Given the description of an element on the screen output the (x, y) to click on. 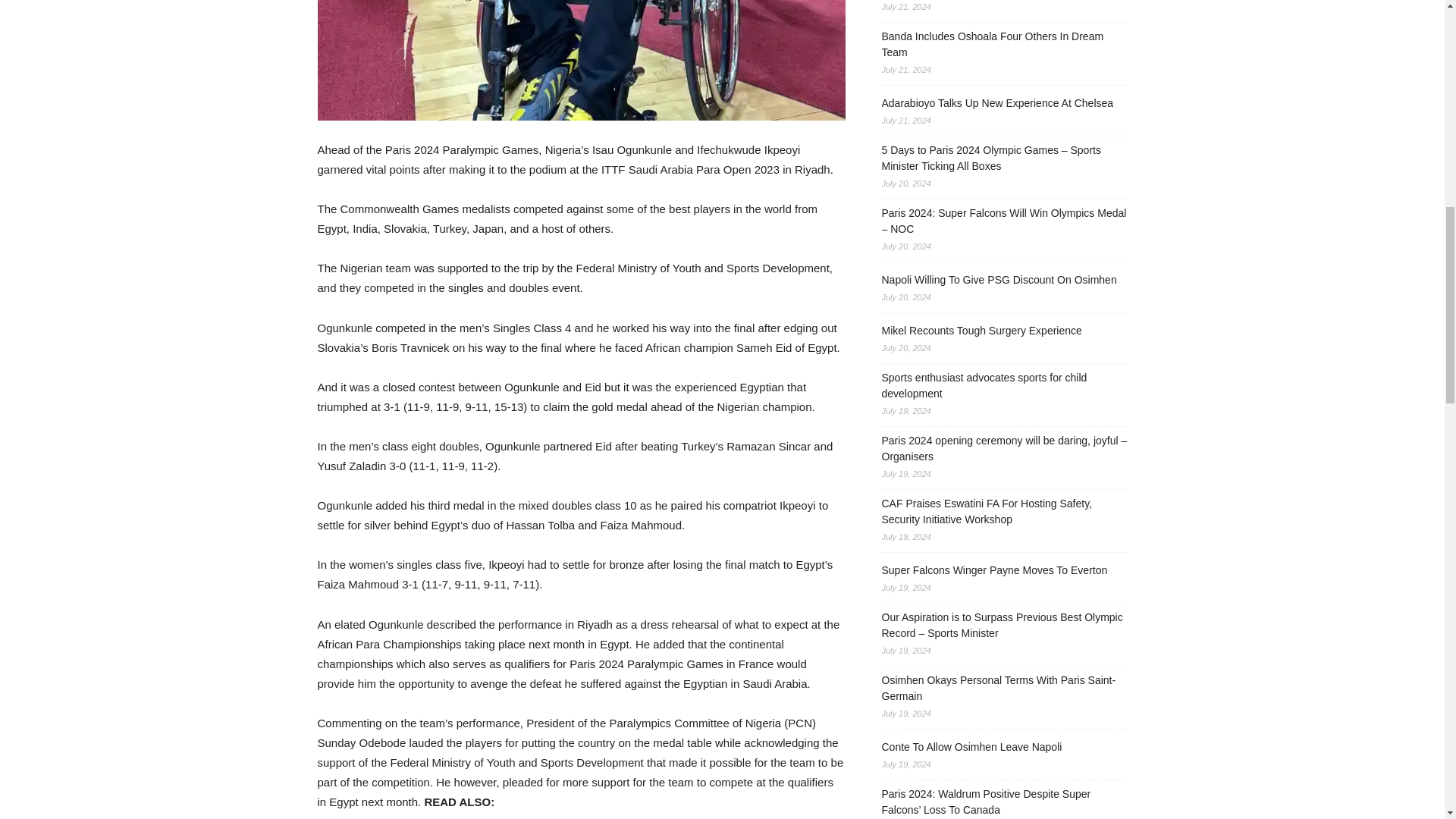
ITTF-Saudi-Para-Open (580, 60)
